Given the description of an element on the screen output the (x, y) to click on. 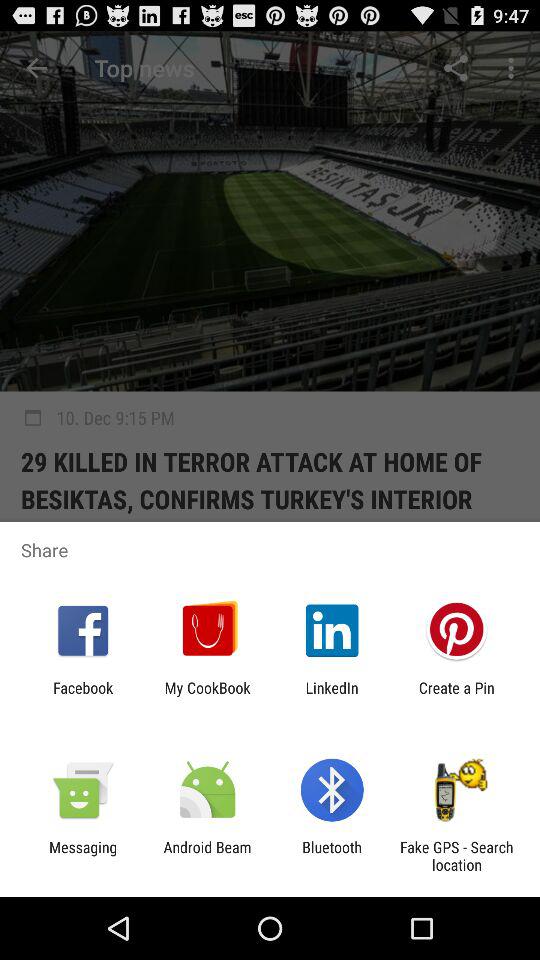
flip until messaging item (83, 856)
